Given the description of an element on the screen output the (x, y) to click on. 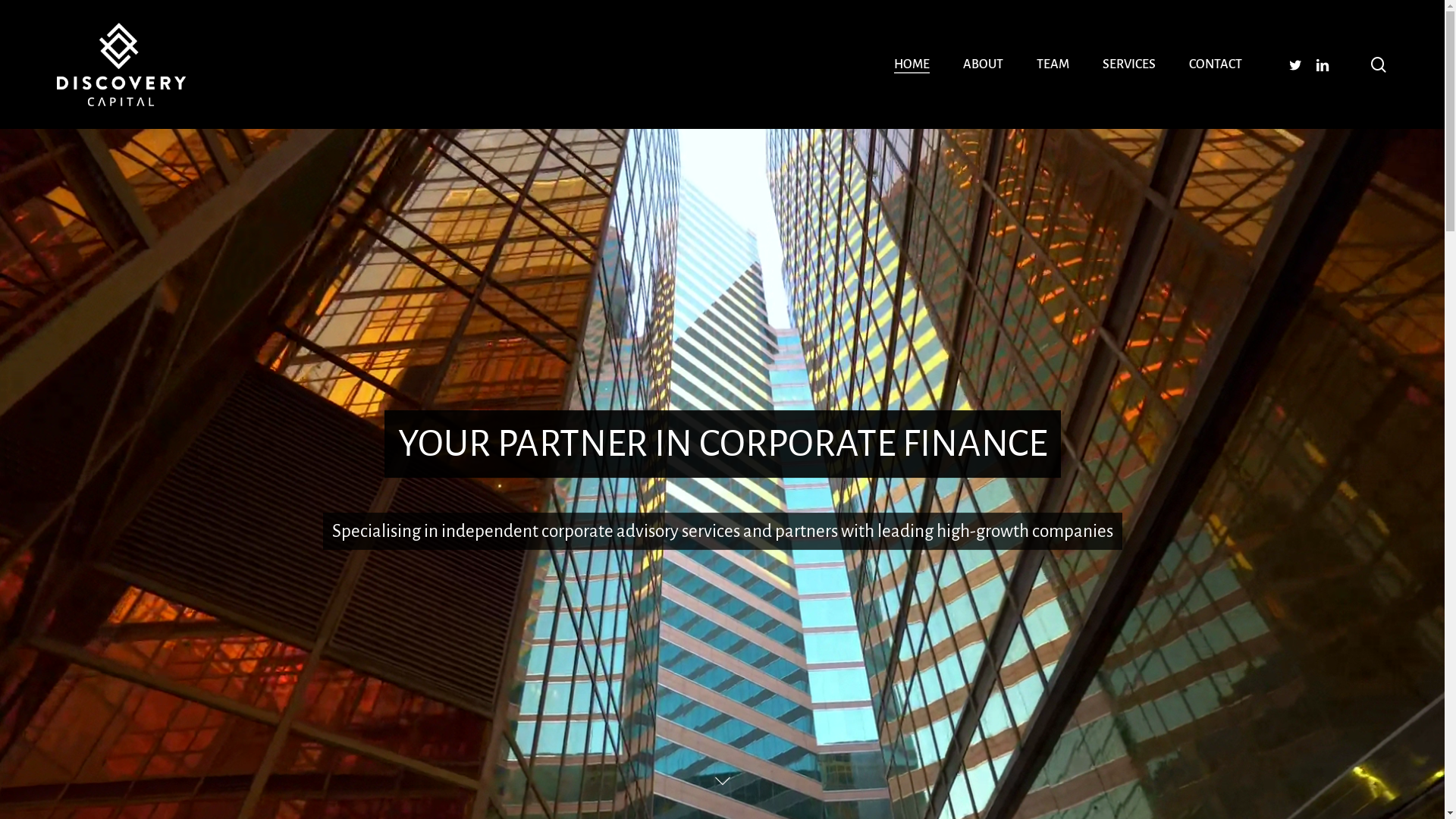
CONTACT Element type: text (1215, 64)
ABOUT Element type: text (983, 64)
LINKEDIN Element type: text (1322, 64)
TWITTER Element type: text (1294, 64)
TEAM Element type: text (1052, 64)
search Element type: text (1378, 64)
HOME Element type: text (911, 64)
SERVICES Element type: text (1128, 64)
